Given the description of an element on the screen output the (x, y) to click on. 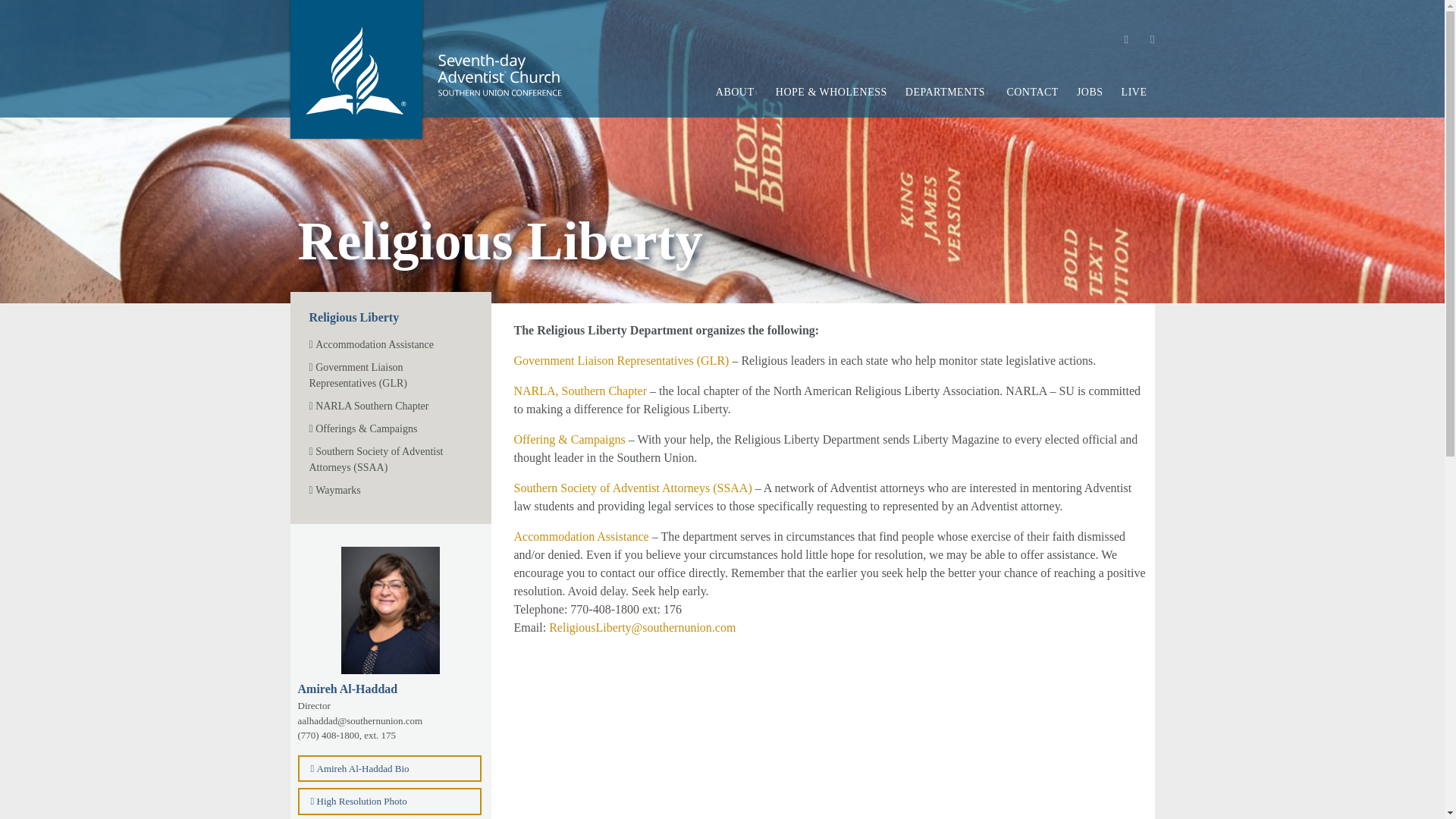
Amireh Al-Haddad Bio (389, 768)
NARLA, Southern Chapter (580, 390)
NARLA Southern Chapter (389, 406)
Accommodation Assistance (389, 344)
ABOUT (736, 92)
CONTACT (1031, 92)
DEPARTMENTS (946, 92)
High Resolution Photo (389, 800)
Waymarks (389, 489)
